Given the description of an element on the screen output the (x, y) to click on. 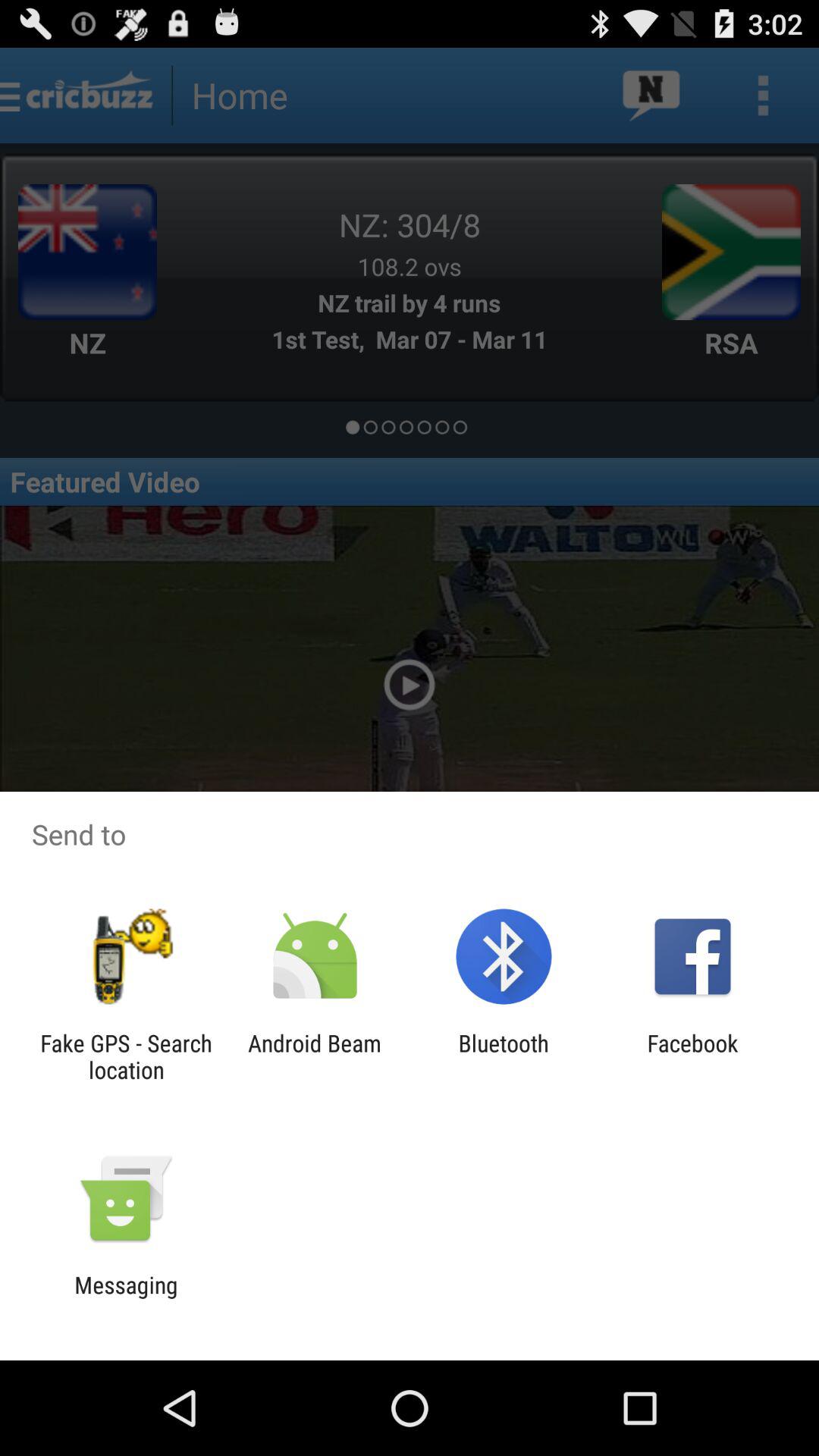
press app at the bottom right corner (692, 1056)
